Given the description of an element on the screen output the (x, y) to click on. 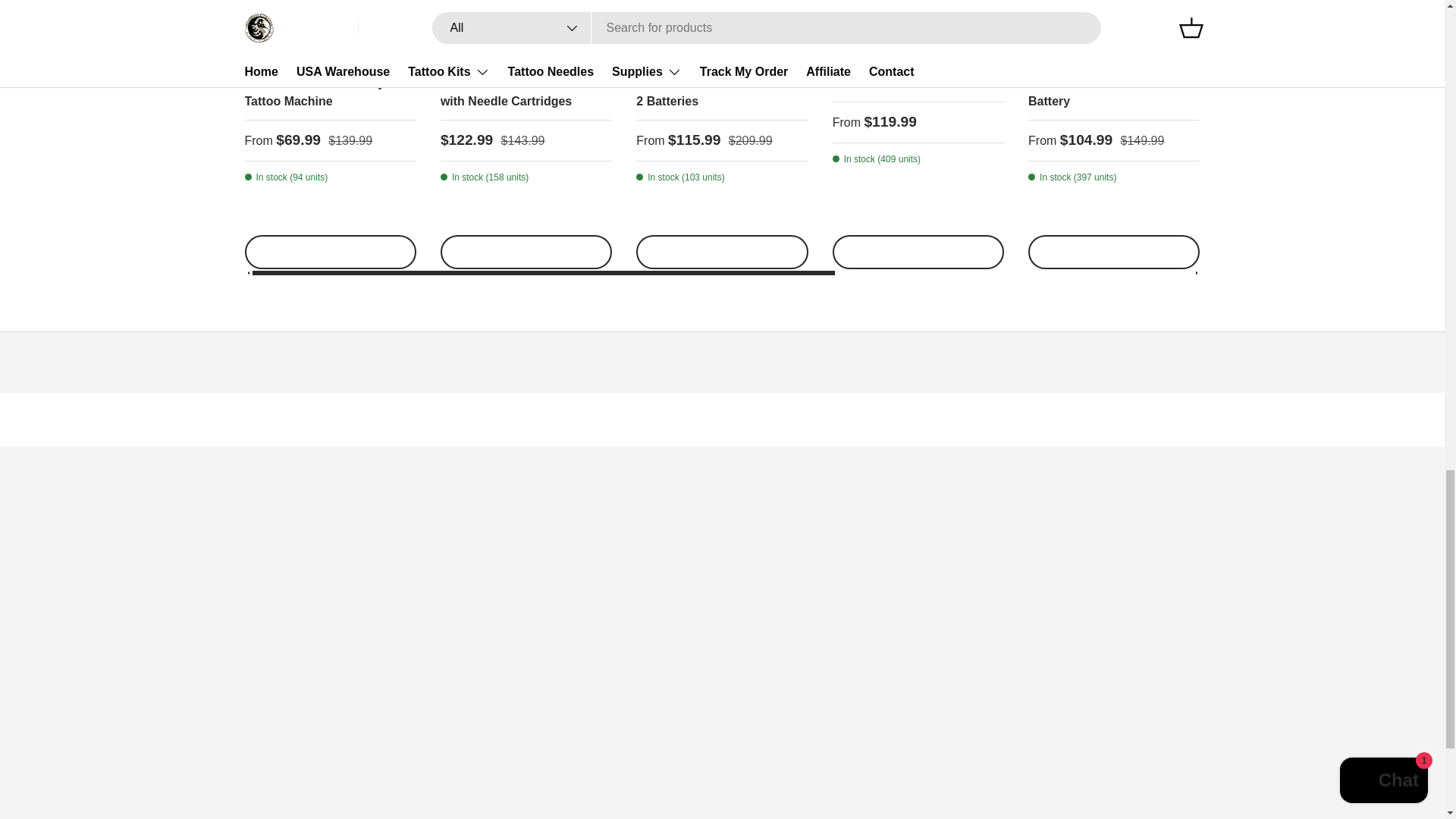
Blue (1285, 179)
Pink (1259, 179)
Black (1234, 179)
